Given the description of an element on the screen output the (x, y) to click on. 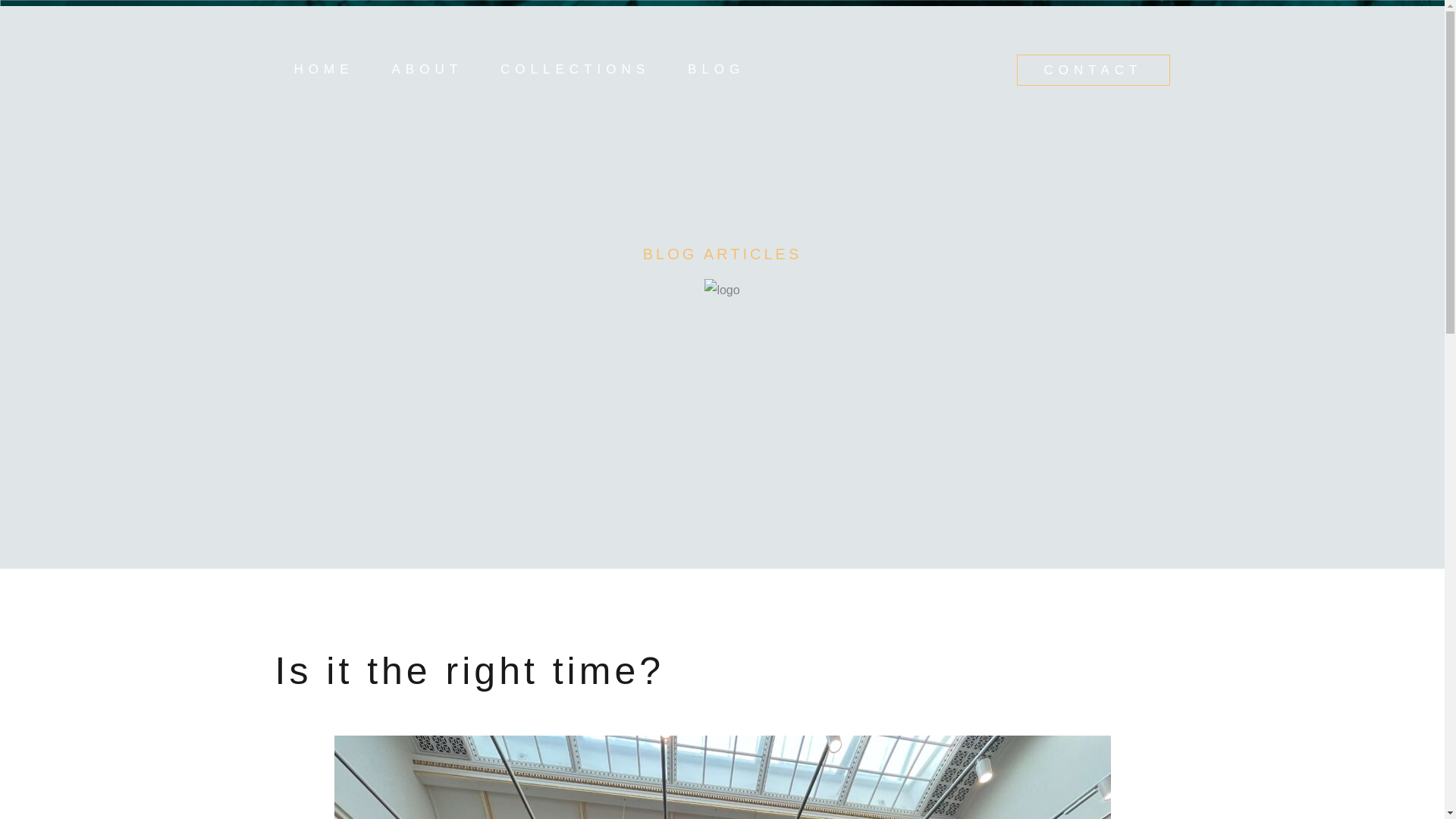
ABOUT (426, 69)
HOME (323, 69)
BLOG (715, 69)
COLLECTIONS (574, 69)
CONTACT (1093, 69)
logo (721, 290)
